Given the description of an element on the screen output the (x, y) to click on. 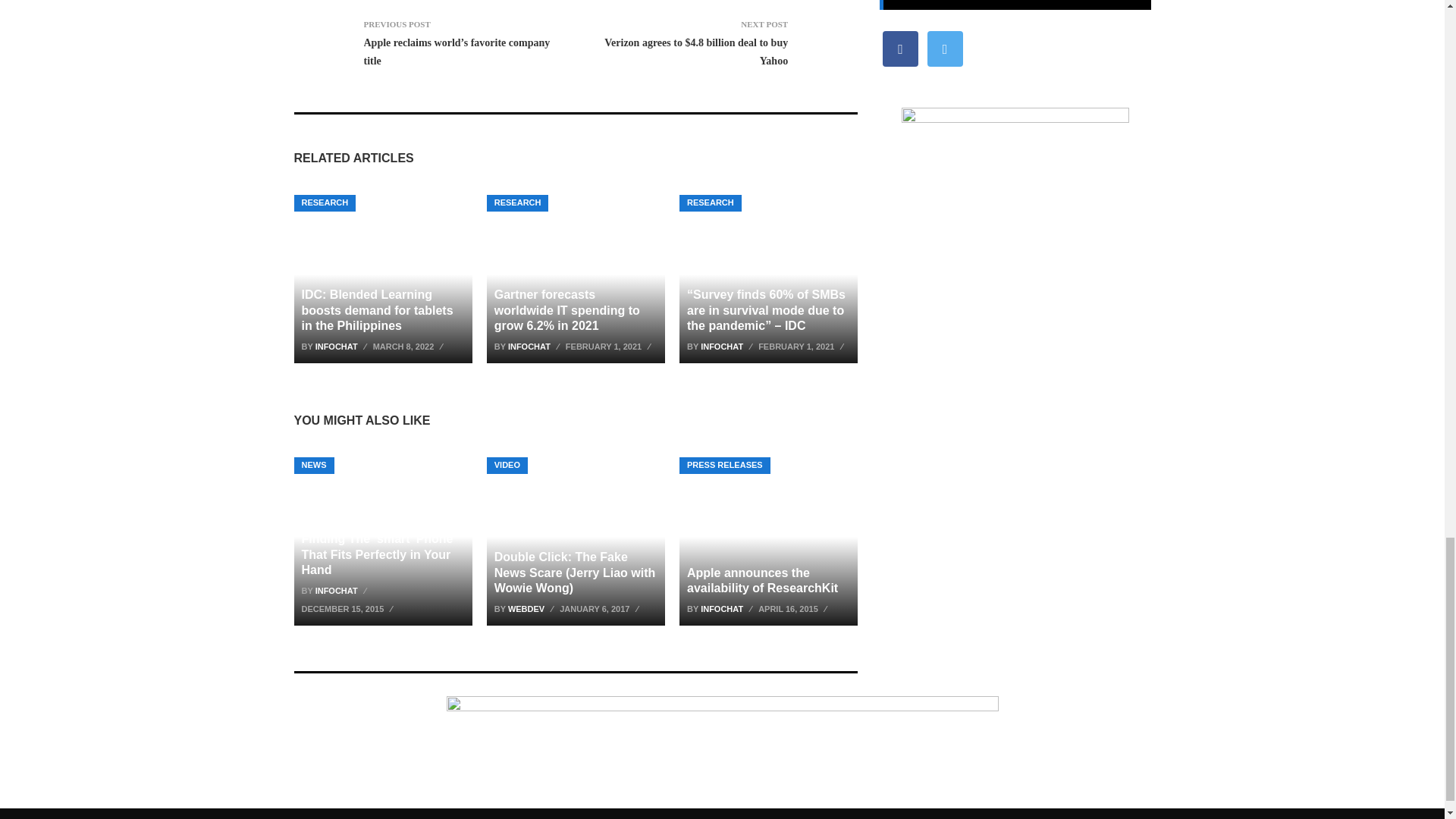
Tuesday, March 8, 2022, 6:27 pm (409, 346)
Friday, January 6, 2017, 11:13 am (600, 608)
Thursday, April 16, 2015, 3:06 pm (794, 608)
Monday, February 1, 2021, 4:11 pm (802, 346)
Tuesday, December 15, 2015, 11:07 am (349, 608)
Monday, February 1, 2021, 4:31 pm (609, 346)
